Given the description of an element on the screen output the (x, y) to click on. 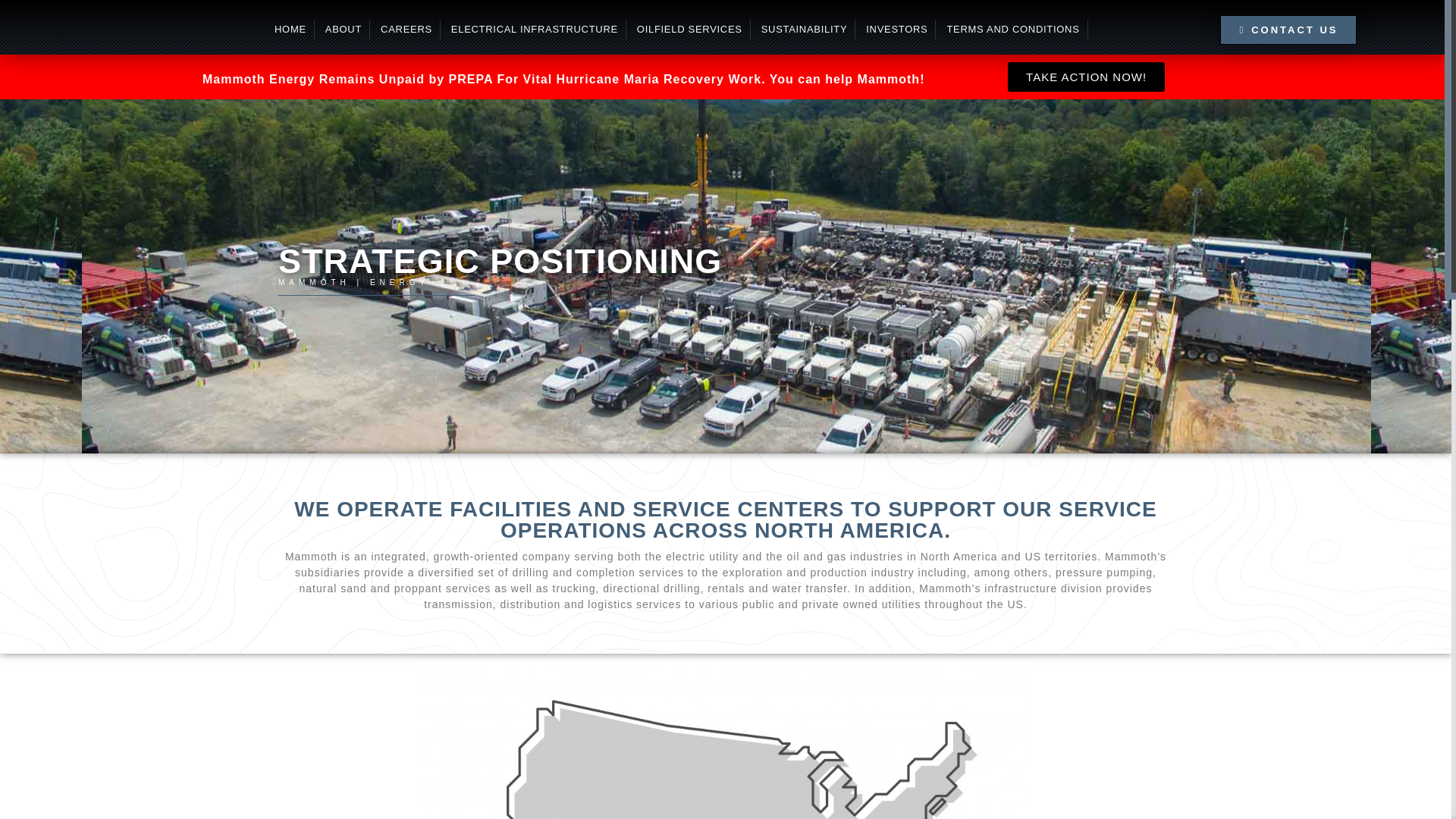
HOME (294, 29)
ELECTRICAL INFRASTRUCTURE (538, 29)
OILFIELD SERVICES (694, 29)
CAREERS (410, 29)
ABOUT (346, 29)
SUSTAINABILITY (808, 29)
INVESTORS (901, 29)
